Given the description of an element on the screen output the (x, y) to click on. 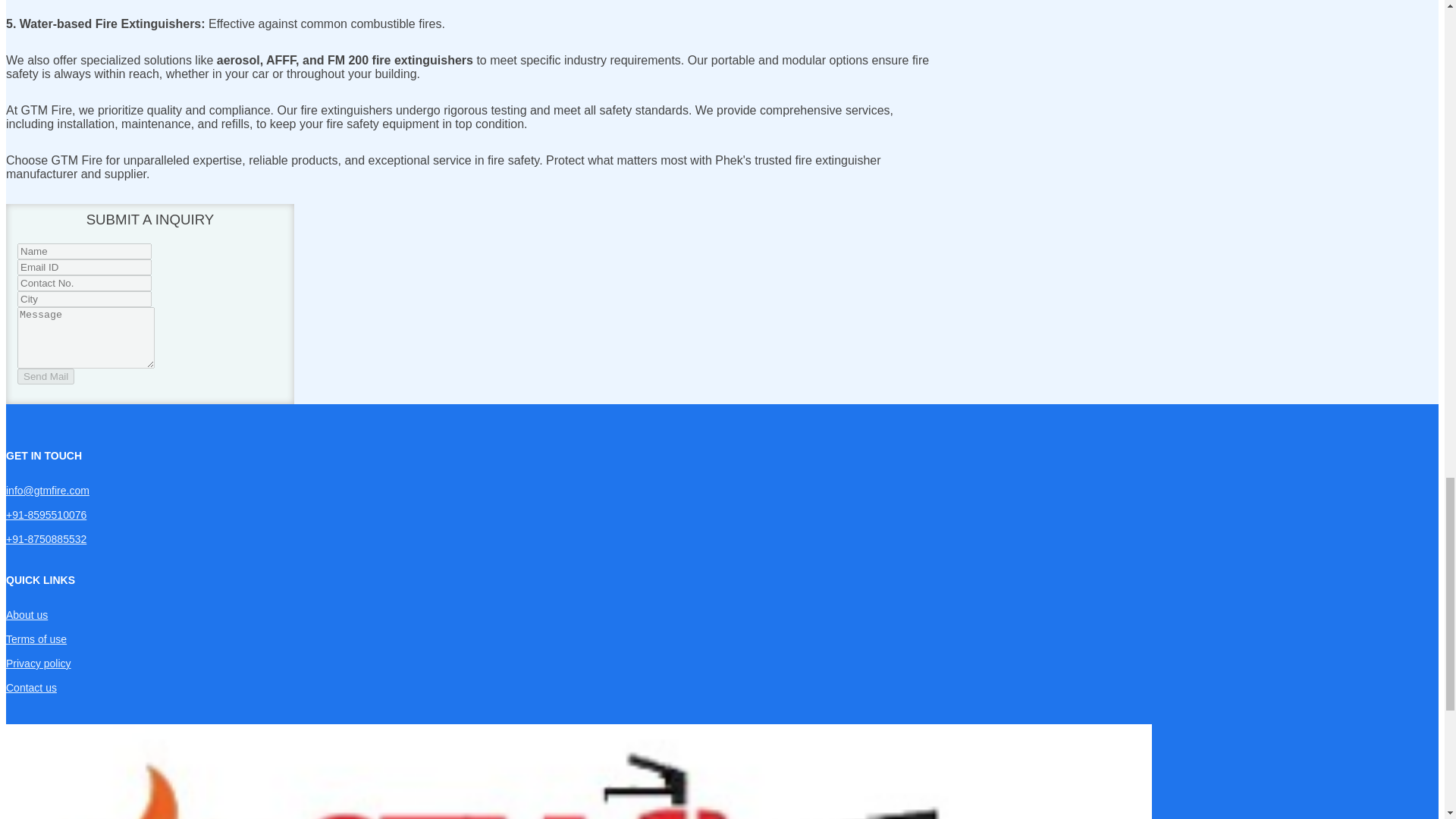
Contact us (30, 687)
Privacy policy (38, 663)
Terms of use (35, 639)
Send Mail (45, 376)
About us (26, 614)
